Given the description of an element on the screen output the (x, y) to click on. 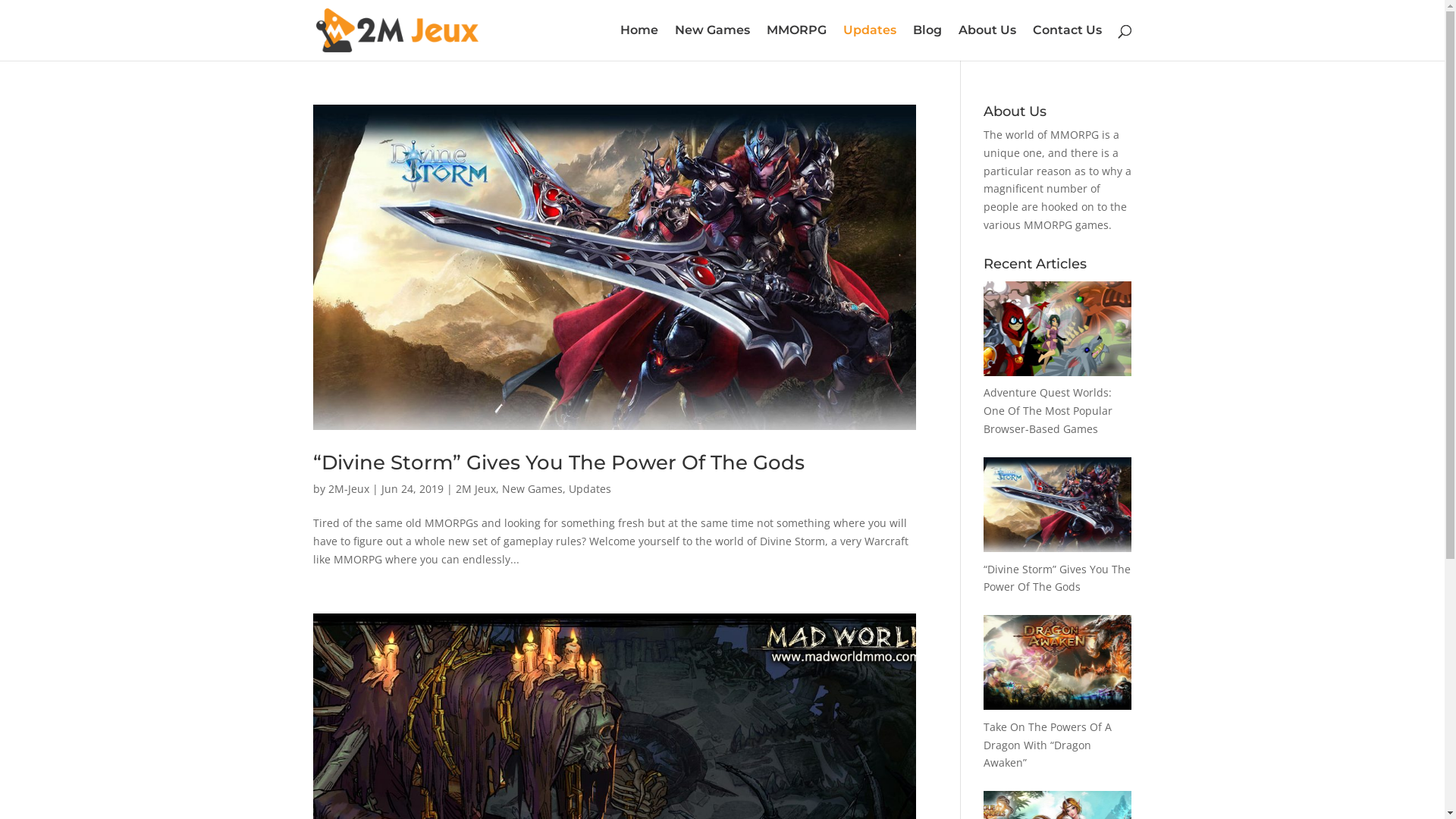
Home Element type: text (639, 42)
Contact Us Element type: text (1066, 42)
Updates Element type: text (589, 488)
MMORPG Element type: text (795, 42)
Updates Element type: text (869, 42)
2M-Jeux Element type: text (347, 488)
New Games Element type: text (532, 488)
Blog Element type: text (927, 42)
2M Jeux Element type: text (475, 488)
About Us Element type: text (987, 42)
New Games Element type: text (711, 42)
